Given the description of an element on the screen output the (x, y) to click on. 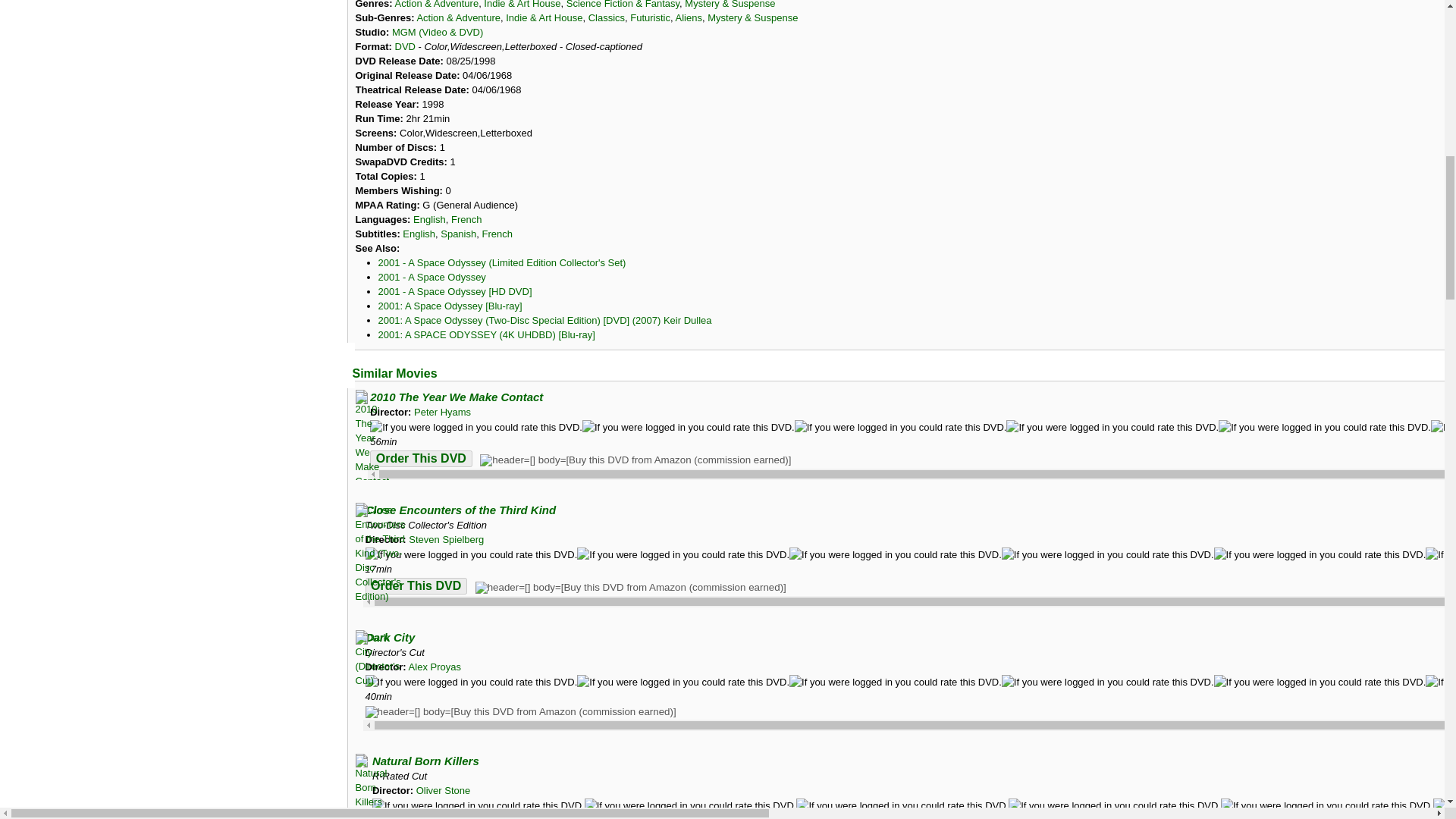
Buy from Amazon (521, 711)
Order This DVD (420, 458)
Order This DVD (416, 586)
Buy from Amazon (631, 587)
Buy from Amazon (635, 460)
